Given the description of an element on the screen output the (x, y) to click on. 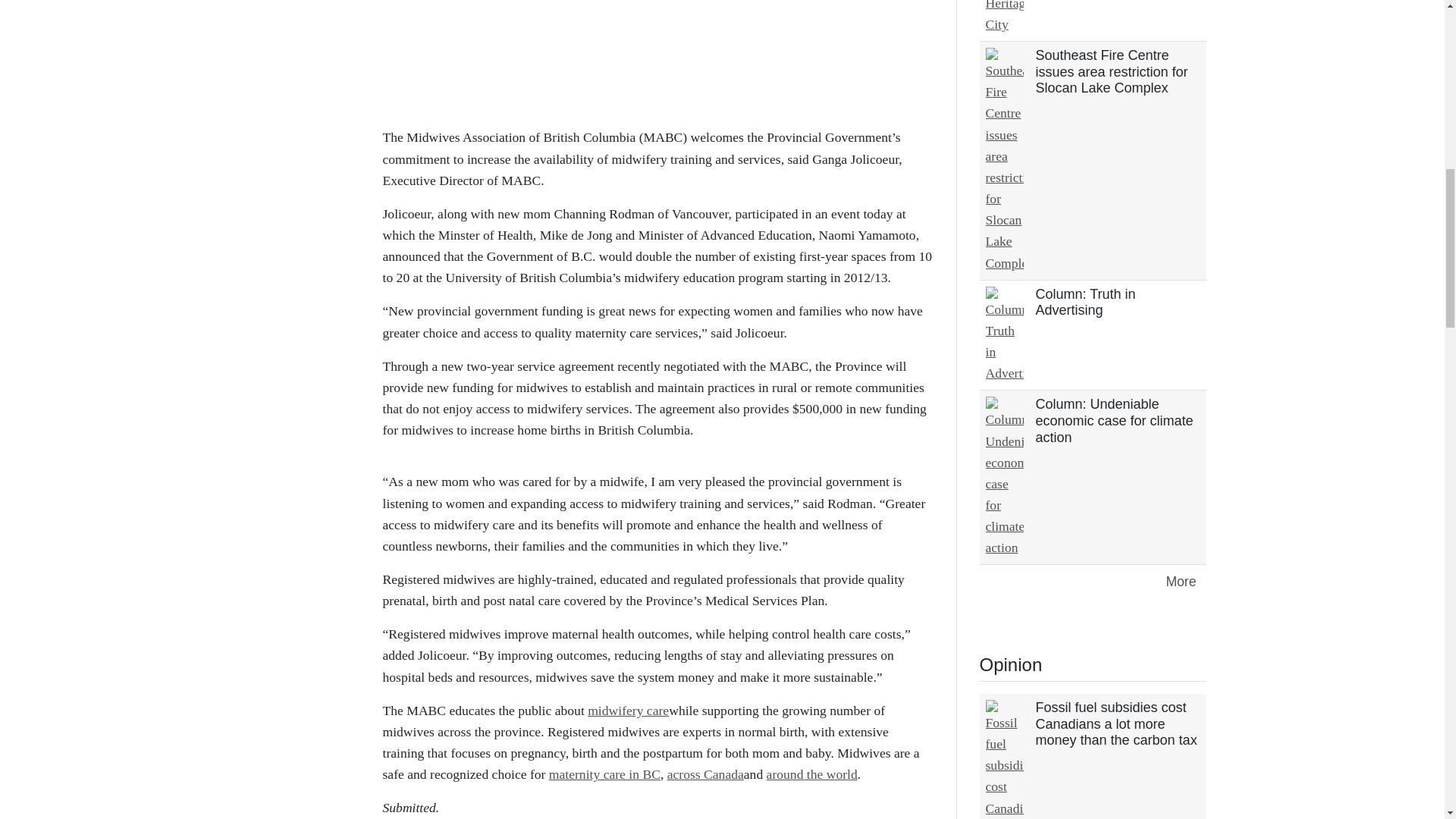
Column: Truth in Advertising (1085, 302)
Column: Undeniable economic case for climate action (1114, 420)
More (1180, 582)
around the world (812, 774)
across Canada (705, 774)
maternity care in BC (604, 774)
midwifery care (628, 710)
